Given the description of an element on the screen output the (x, y) to click on. 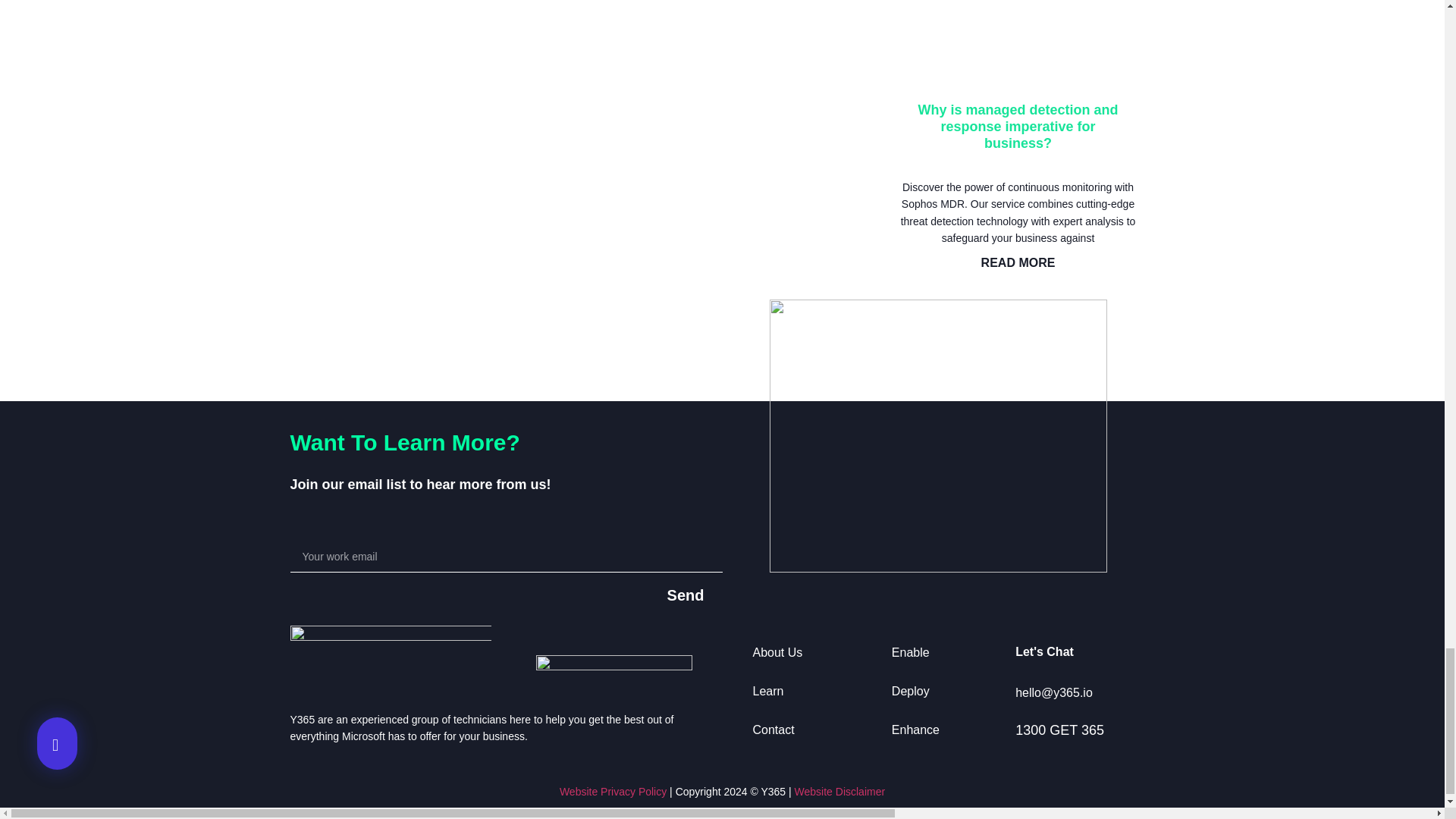
Send (685, 594)
Contact (772, 729)
Enable (910, 652)
Learn (766, 690)
About Us (776, 652)
Deploy (910, 690)
READ MORE (1018, 262)
